Given the description of an element on the screen output the (x, y) to click on. 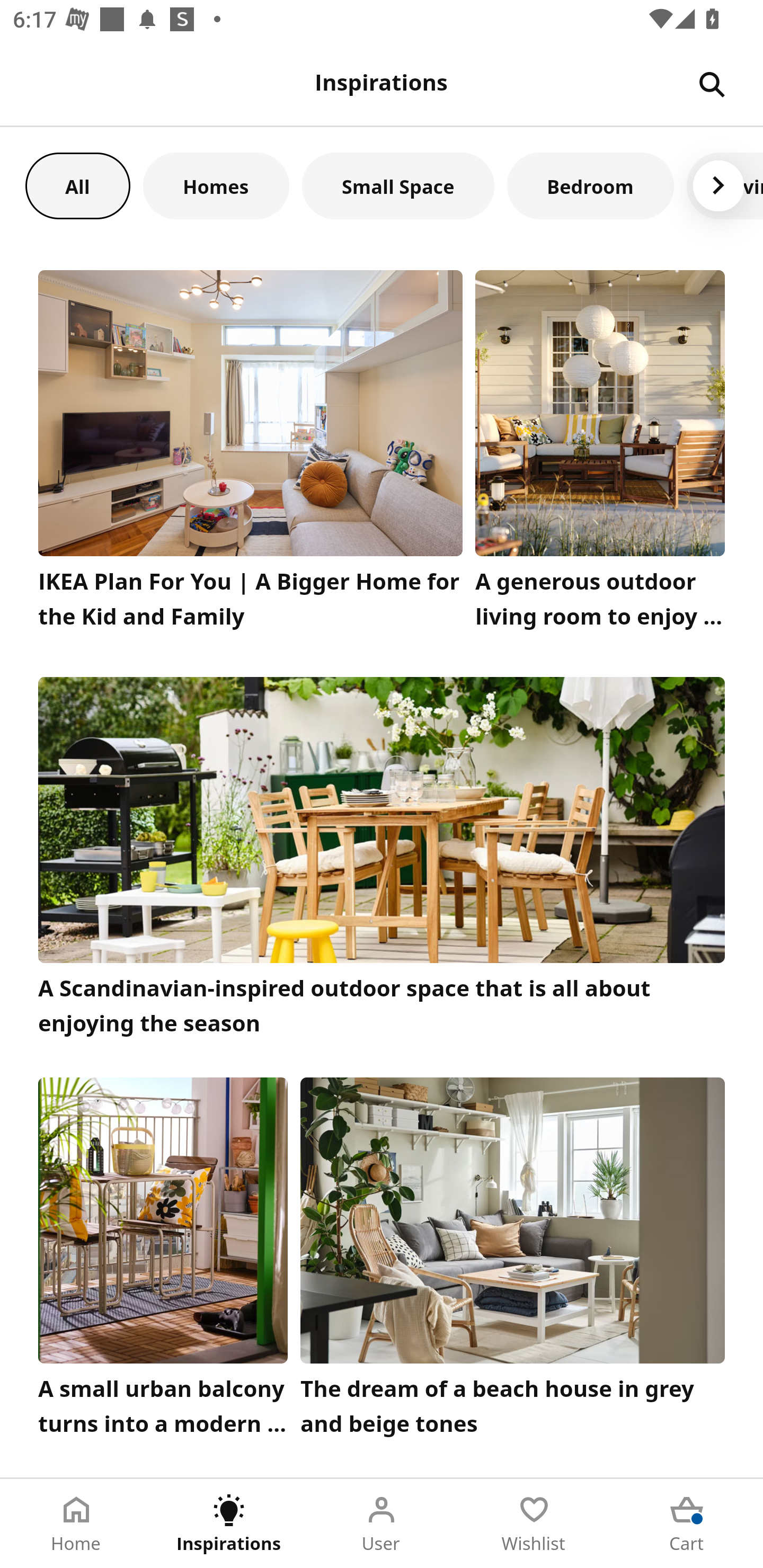
All (77, 185)
Homes (216, 185)
Small Space (398, 185)
Bedroom (590, 185)
The dream of a beach house in grey and beige tones (512, 1261)
Home
Tab 1 of 5 (76, 1522)
Inspirations
Tab 2 of 5 (228, 1522)
User
Tab 3 of 5 (381, 1522)
Wishlist
Tab 4 of 5 (533, 1522)
Cart
Tab 5 of 5 (686, 1522)
